Given the description of an element on the screen output the (x, y) to click on. 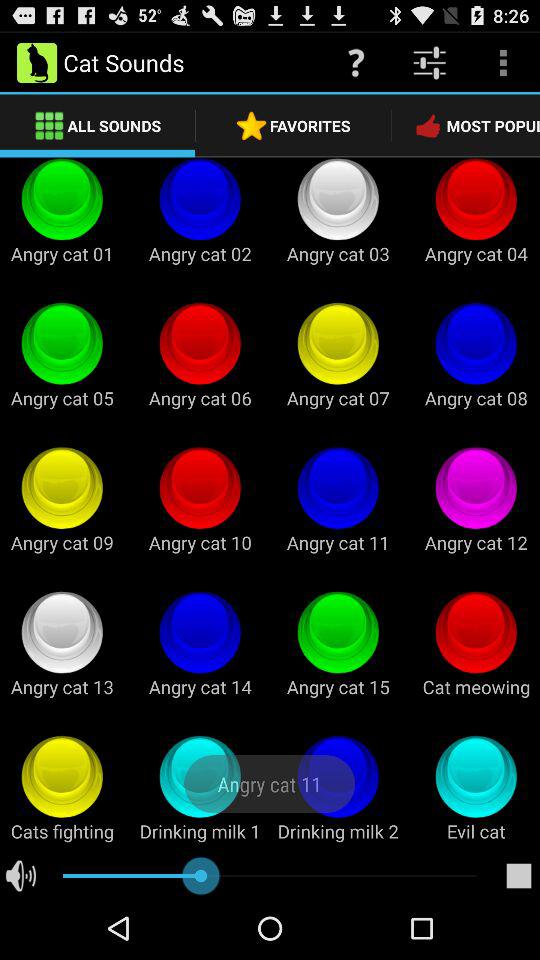
turn off the app next to the cat sounds icon (356, 62)
